Given the description of an element on the screen output the (x, y) to click on. 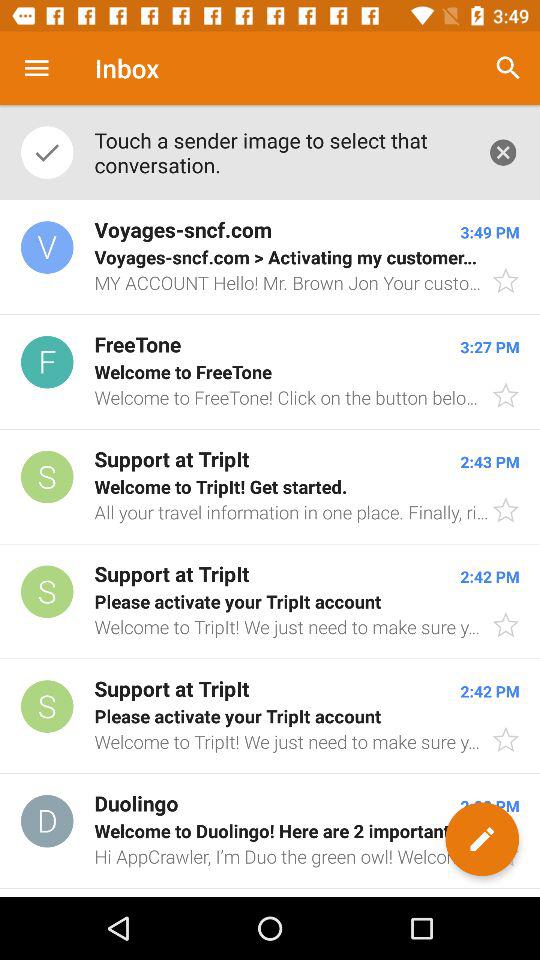
tap the icon to the right of touch a sender (503, 152)
